Given the description of an element on the screen output the (x, y) to click on. 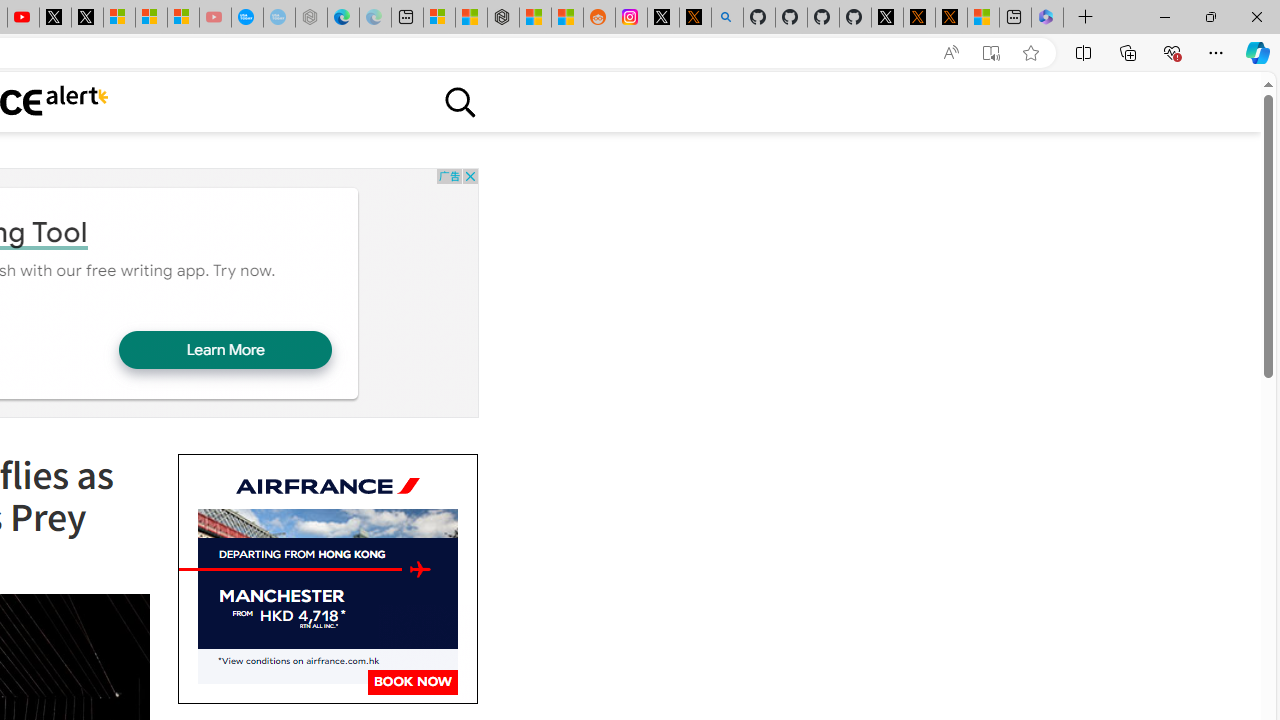
Opinion: Op-Ed and Commentary - USA TODAY (246, 17)
X Privacy Policy (950, 17)
Log in to X / X (663, 17)
